Given the description of an element on the screen output the (x, y) to click on. 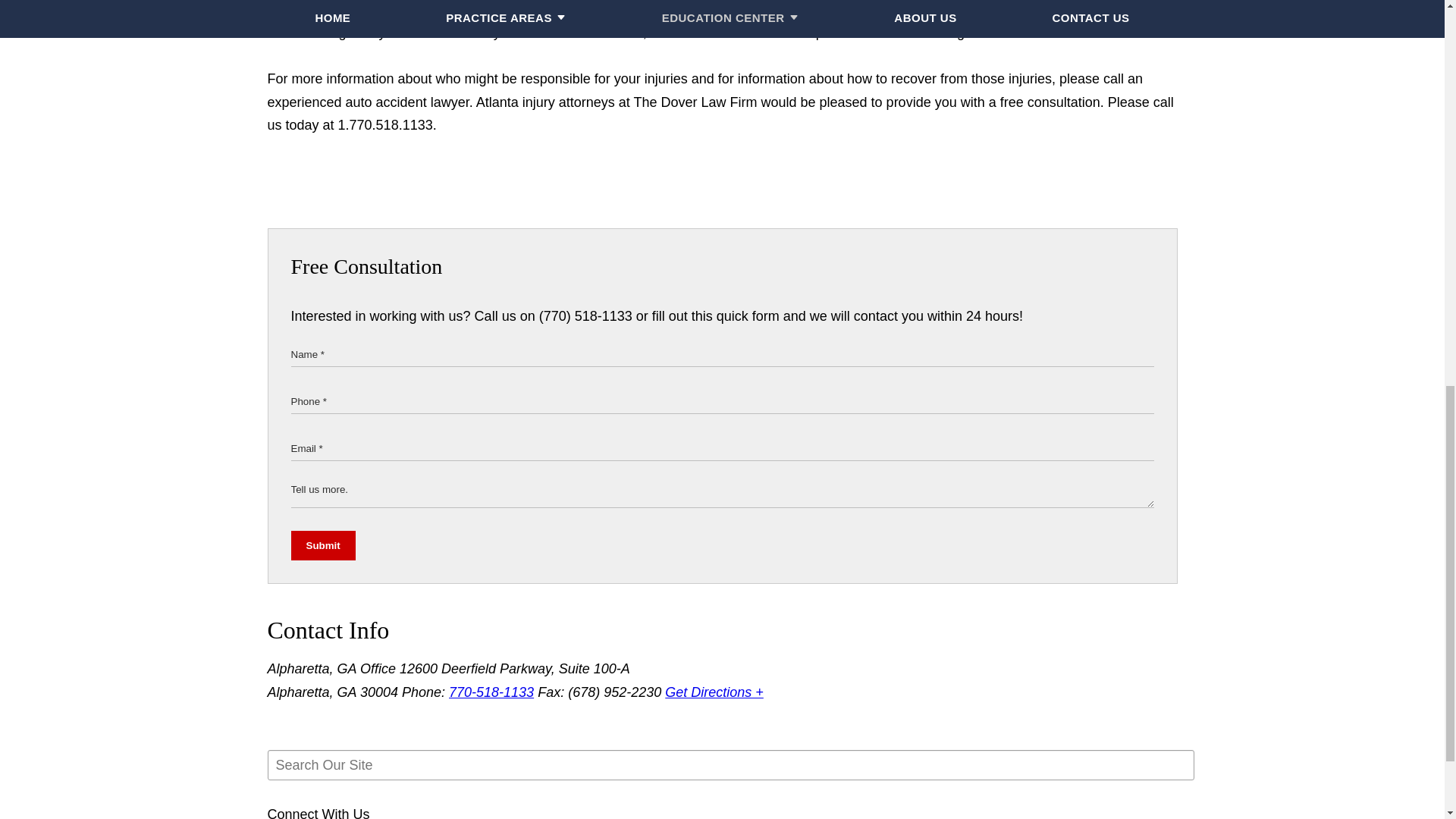
Submit (323, 545)
770-518-1133 (491, 692)
